Given the description of an element on the screen output the (x, y) to click on. 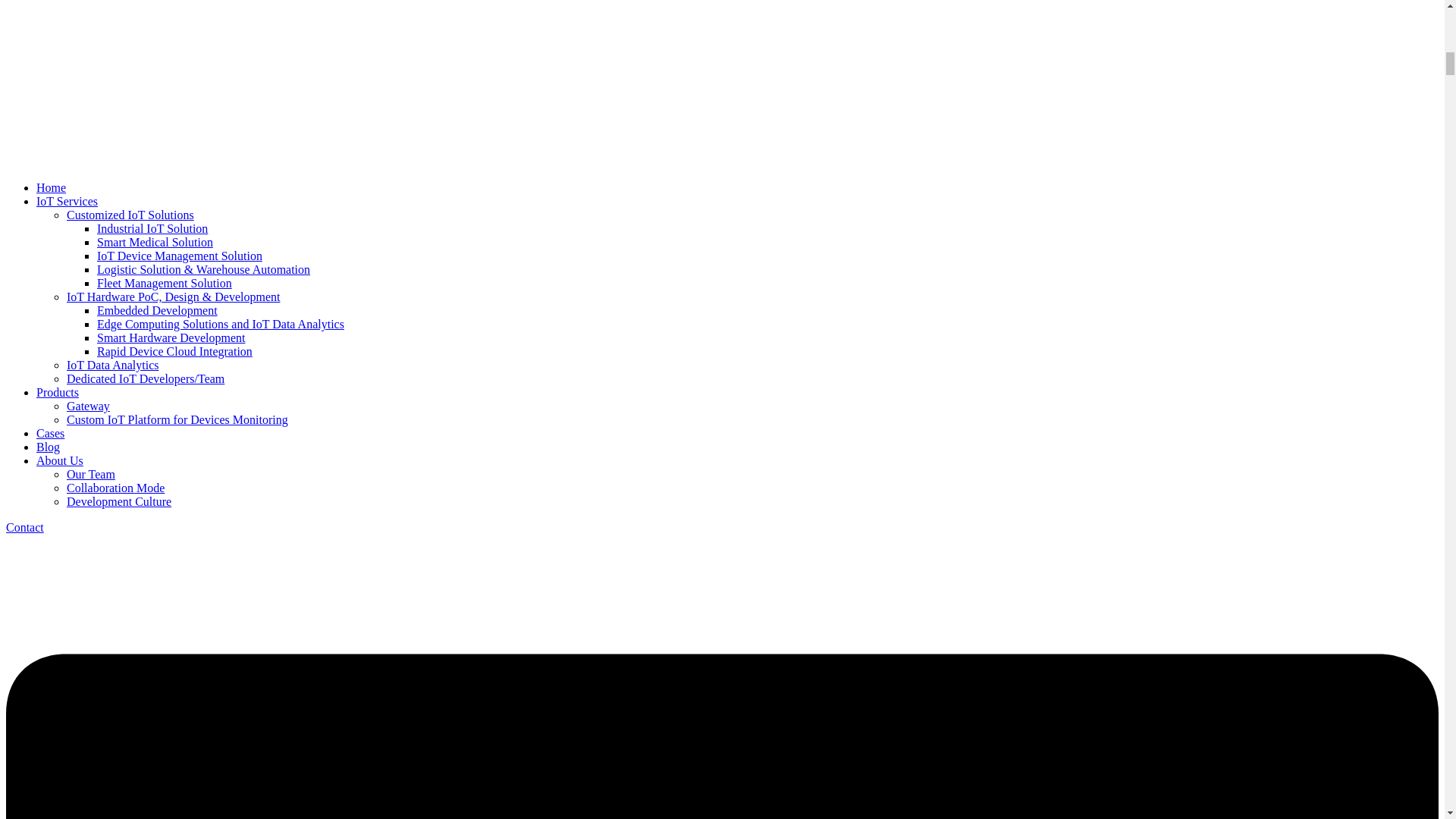
IoT Services (66, 201)
Home (50, 187)
Rapid Device Cloud Integration (174, 350)
Industrial IoT Solution (152, 228)
Embedded Development (156, 309)
Customized IoT Solutions (129, 214)
Fleet Management Solution (164, 282)
Smart Hardware Development (170, 337)
Edge Computing Solutions and IoT Data Analytics (220, 323)
Smart Medical Solution (154, 241)
IoT Data Analytics (112, 364)
IoT Device Management Solution (179, 255)
